Given the description of an element on the screen output the (x, y) to click on. 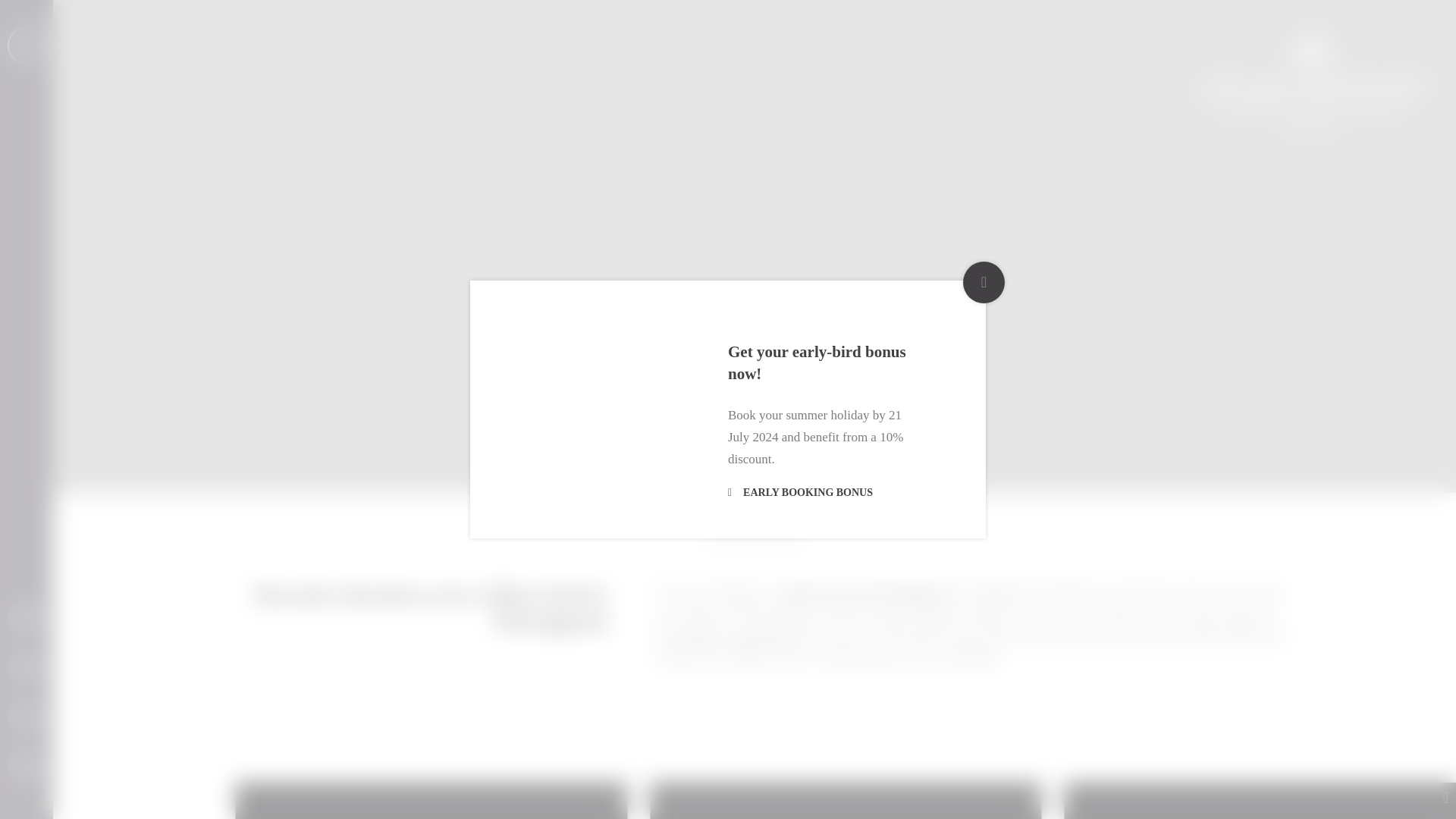
Download (26, 667)
Voucher (26, 617)
